Given the description of an element on the screen output the (x, y) to click on. 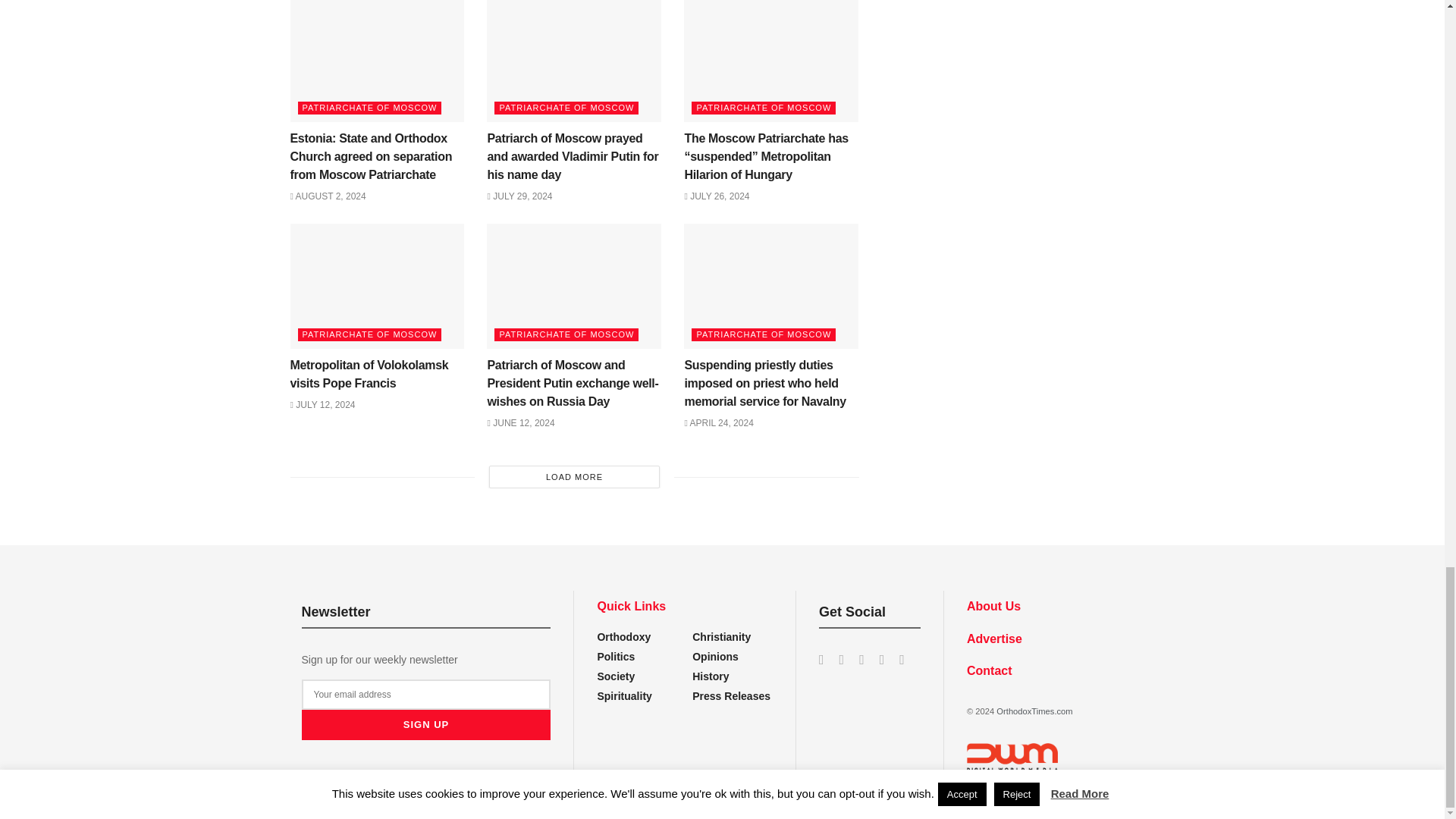
You can add some category description here. (731, 695)
You can add some category description here. (711, 676)
Sign up (426, 725)
OrthodoxTimes.com (1033, 710)
